Given the description of an element on the screen output the (x, y) to click on. 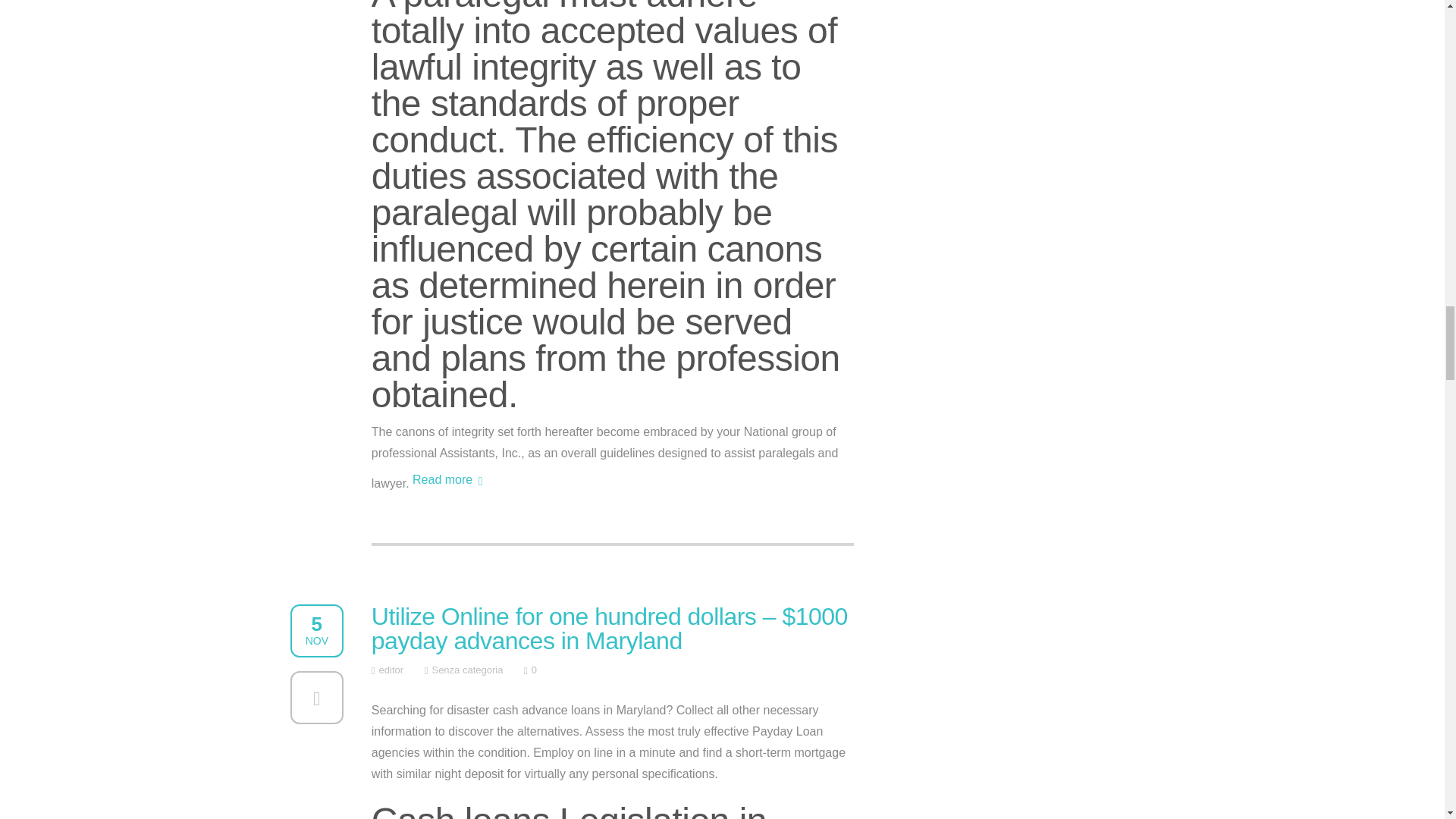
editor (391, 669)
Senza categoria (466, 669)
Read more (456, 480)
